Given the description of an element on the screen output the (x, y) to click on. 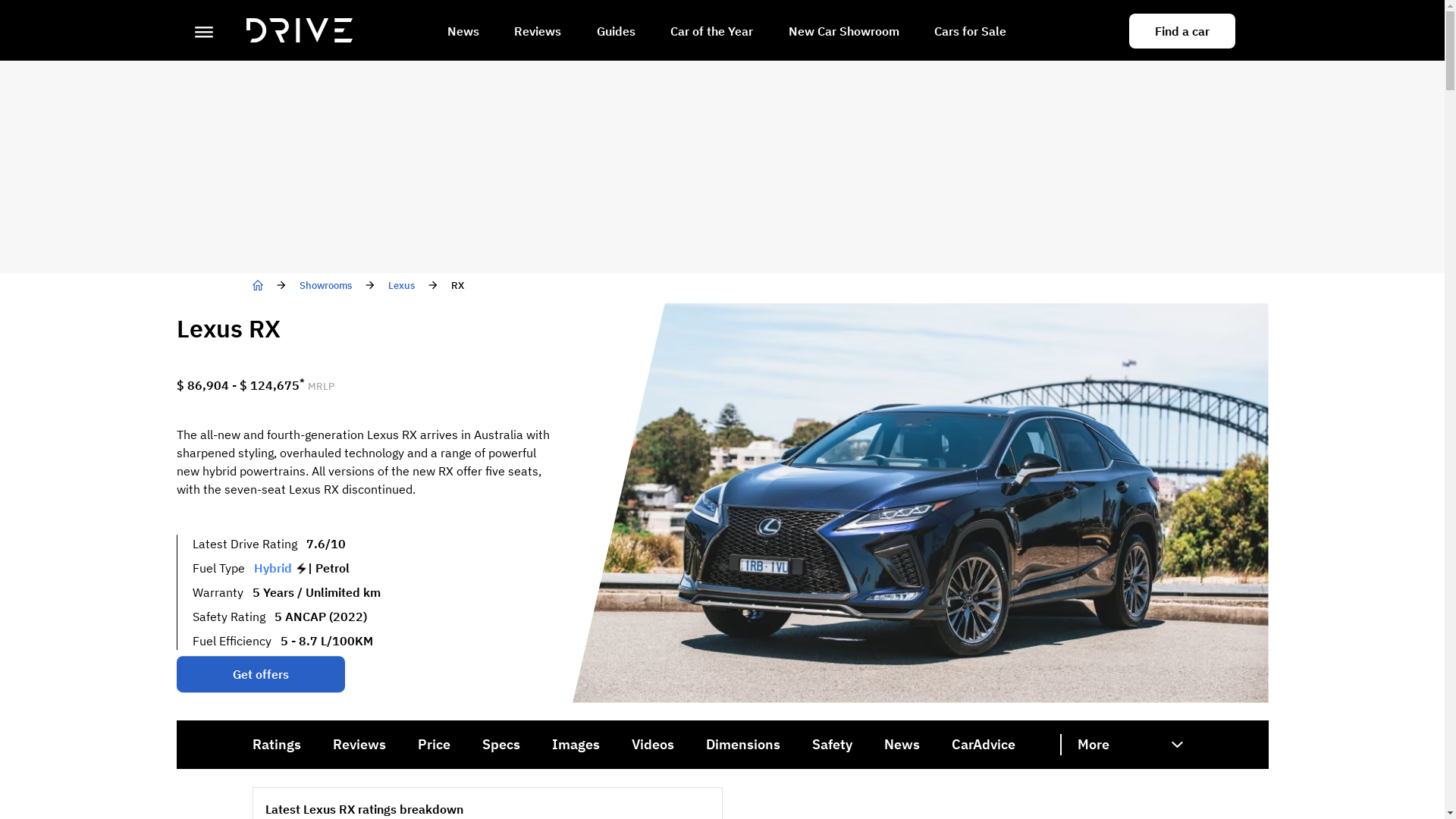
Lexus Element type: text (401, 284)
Specs Element type: text (501, 744)
News Element type: text (463, 33)
Guides Element type: text (615, 33)
Videos Element type: text (651, 744)
Find a car Element type: text (1181, 30)
Get offers Element type: text (259, 674)
New Car Showroom Element type: text (843, 33)
Cars for Sale Element type: text (970, 33)
News Element type: text (901, 744)
Reviews Element type: text (537, 33)
Car of the Year Element type: text (711, 33)
Ratings Element type: text (275, 744)
Showrooms Element type: text (324, 284)
CarAdvice Element type: text (982, 744)
Dimensions Element type: text (742, 744)
Images Element type: text (575, 744)
Reviews Element type: text (358, 744)
Price Element type: text (433, 744)
Safety Element type: text (831, 744)
